Given the description of an element on the screen output the (x, y) to click on. 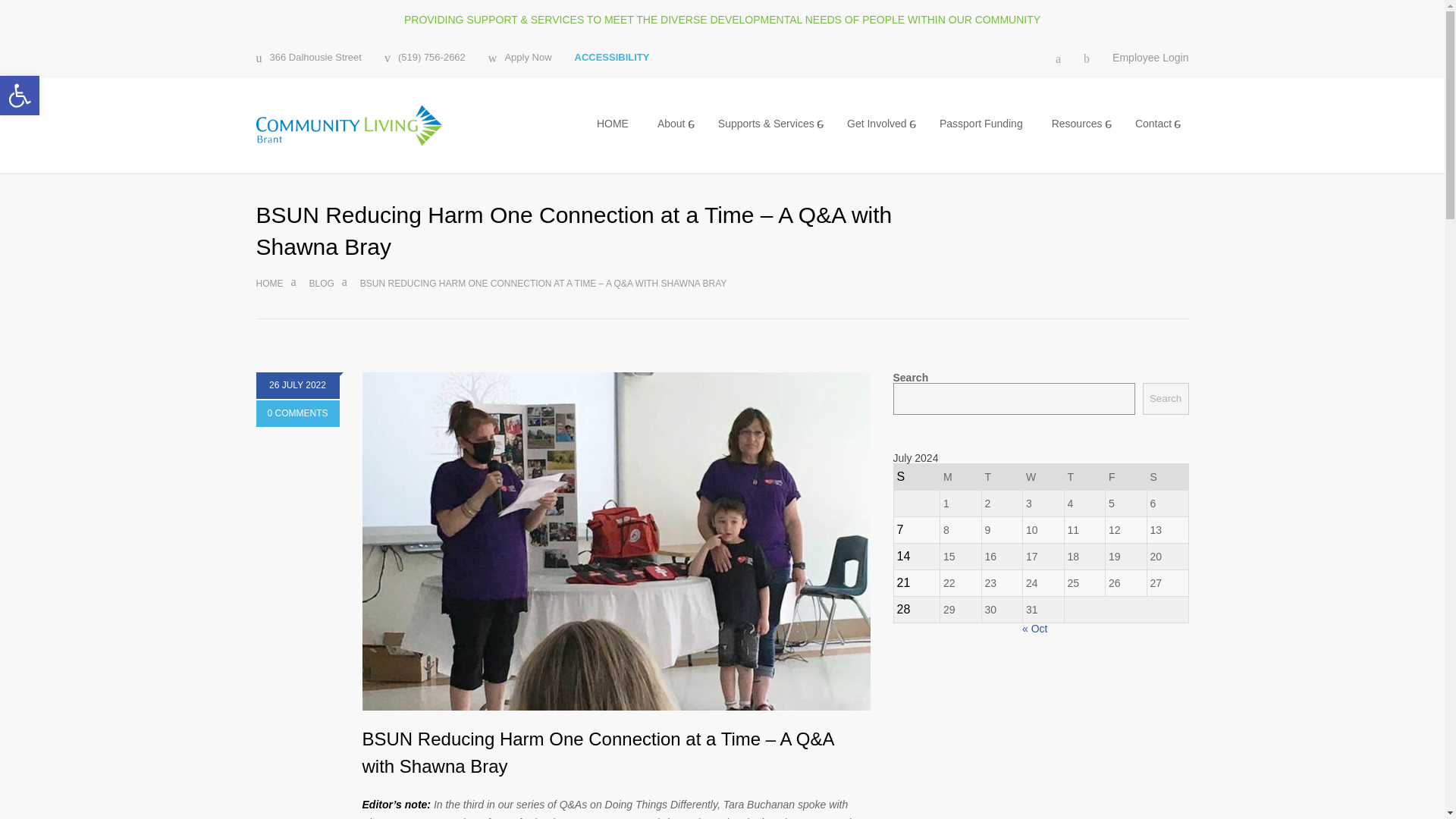
ACCESSIBILITY (612, 57)
Employee Login (1150, 57)
About (19, 95)
Accessibility Tools (673, 123)
Apply Now (19, 95)
Accessibility Tools (519, 58)
Home (19, 95)
0 COMMENTS (269, 283)
HOME (297, 413)
Blog (613, 123)
Get Involved (321, 283)
